Given the description of an element on the screen output the (x, y) to click on. 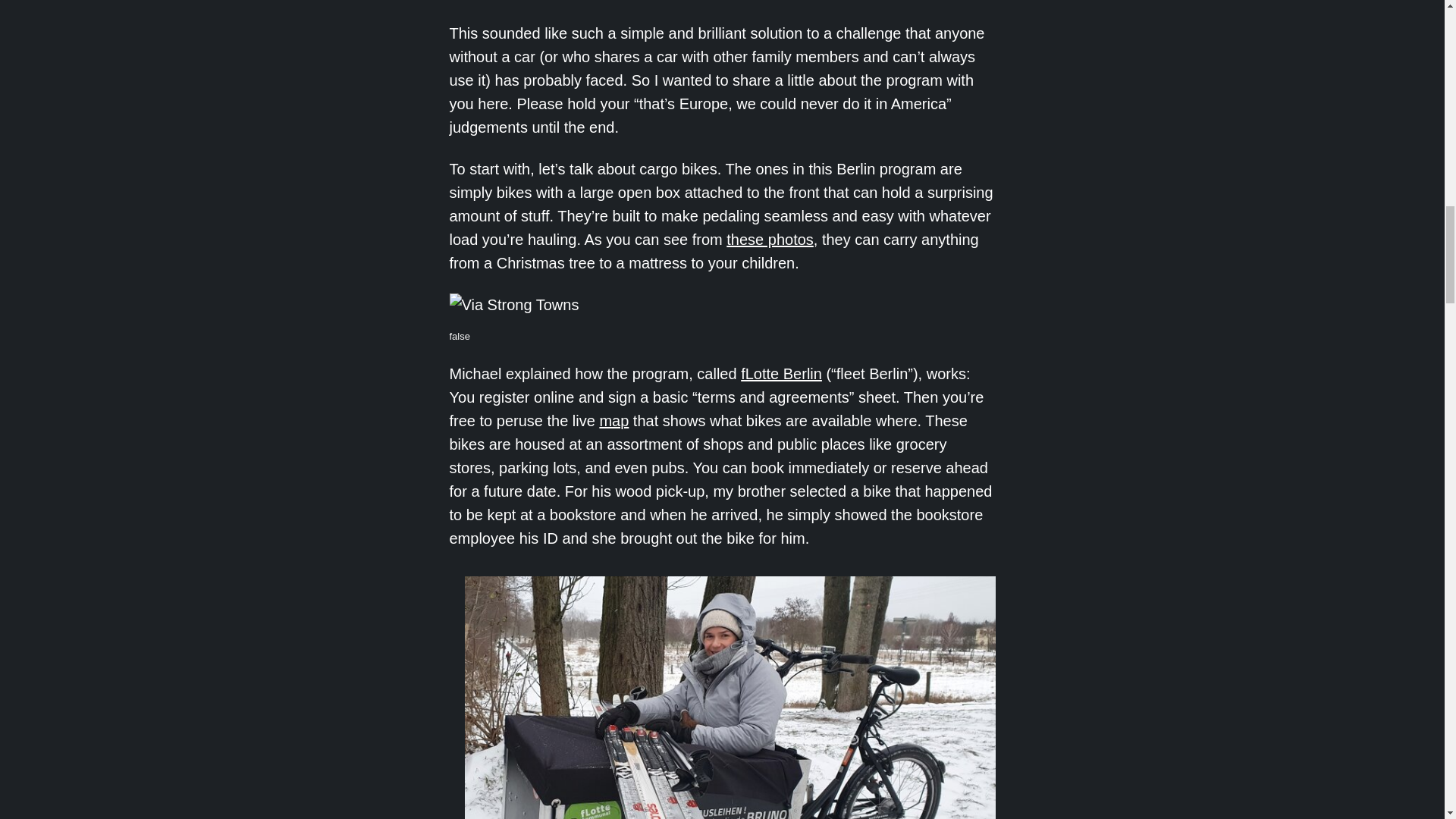
fLotte Berlin (781, 373)
map (613, 420)
these photos (769, 239)
